Given the description of an element on the screen output the (x, y) to click on. 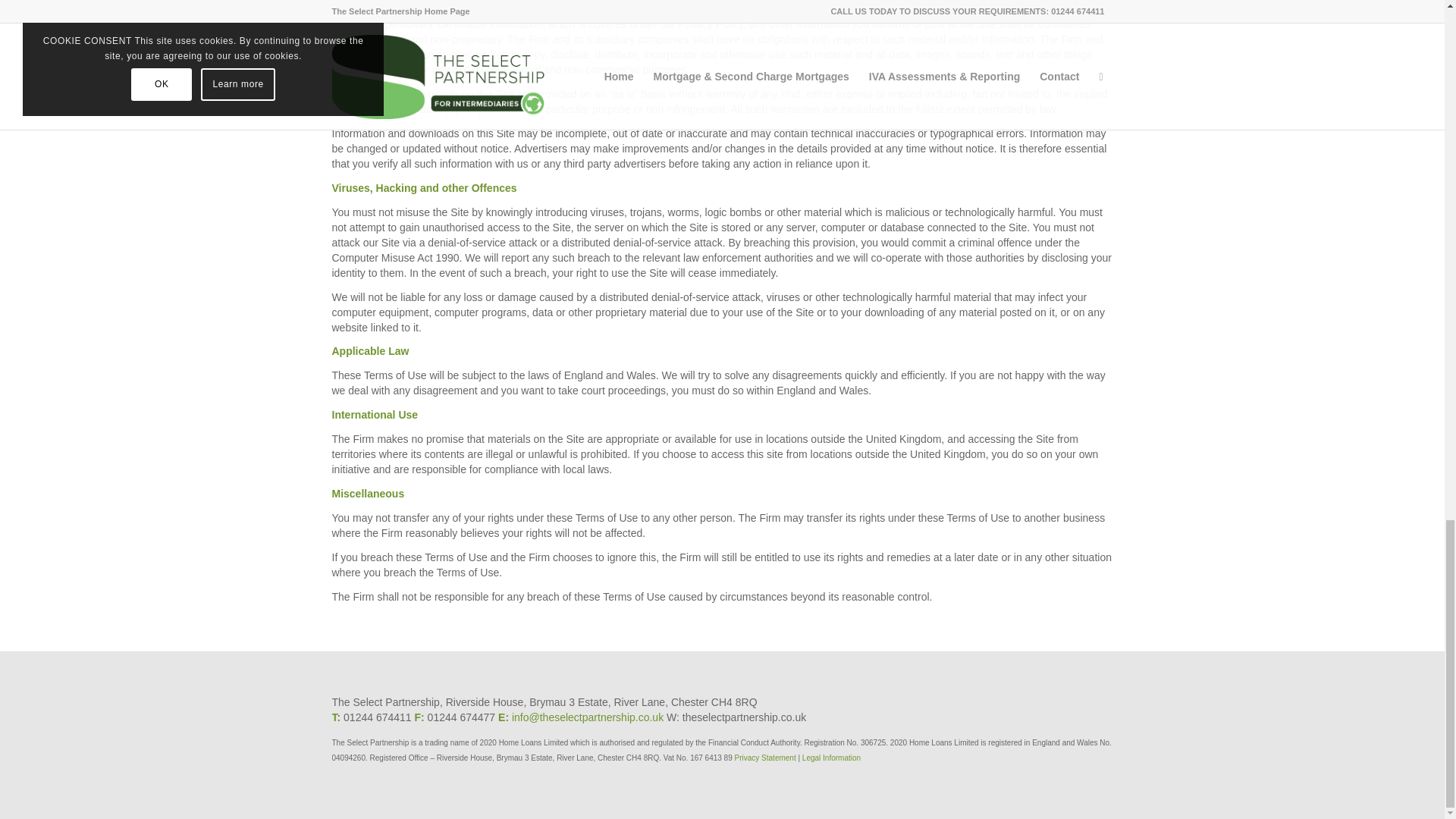
Privacy Statement (765, 757)
Legal Information (831, 757)
